Given the description of an element on the screen output the (x, y) to click on. 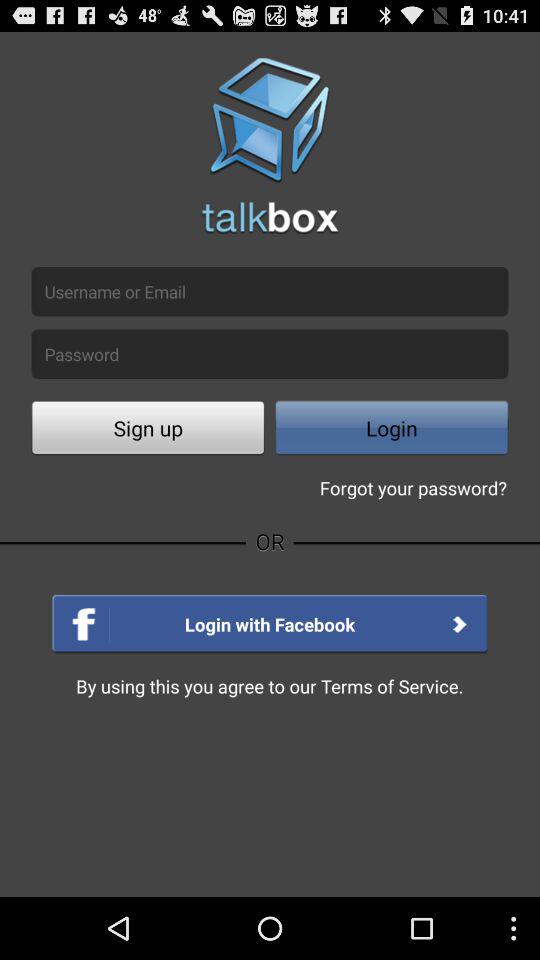
choose the by using this icon (269, 685)
